Given the description of an element on the screen output the (x, y) to click on. 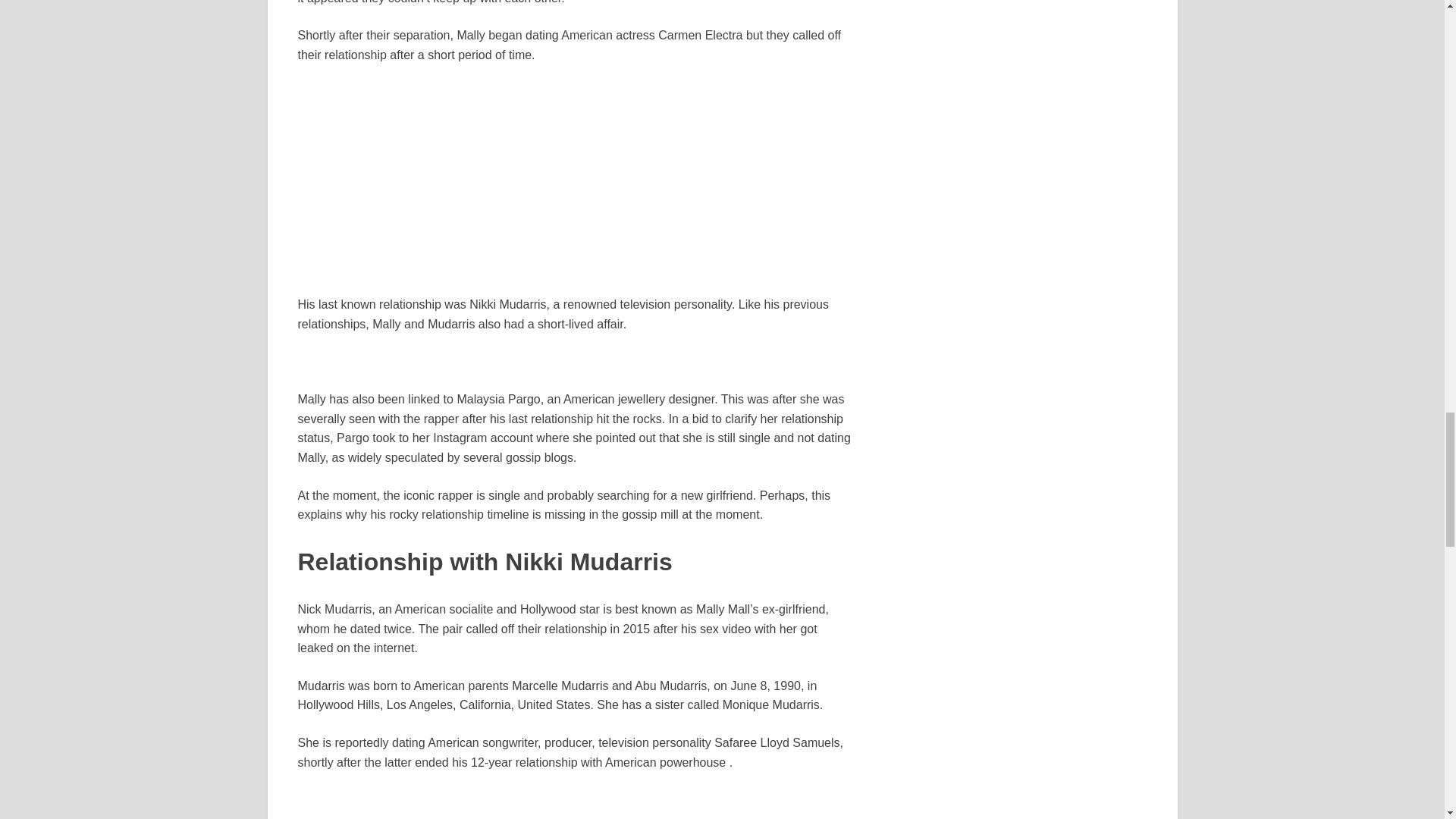
Advertisement (575, 804)
Advertisement (575, 188)
